Given the description of an element on the screen output the (x, y) to click on. 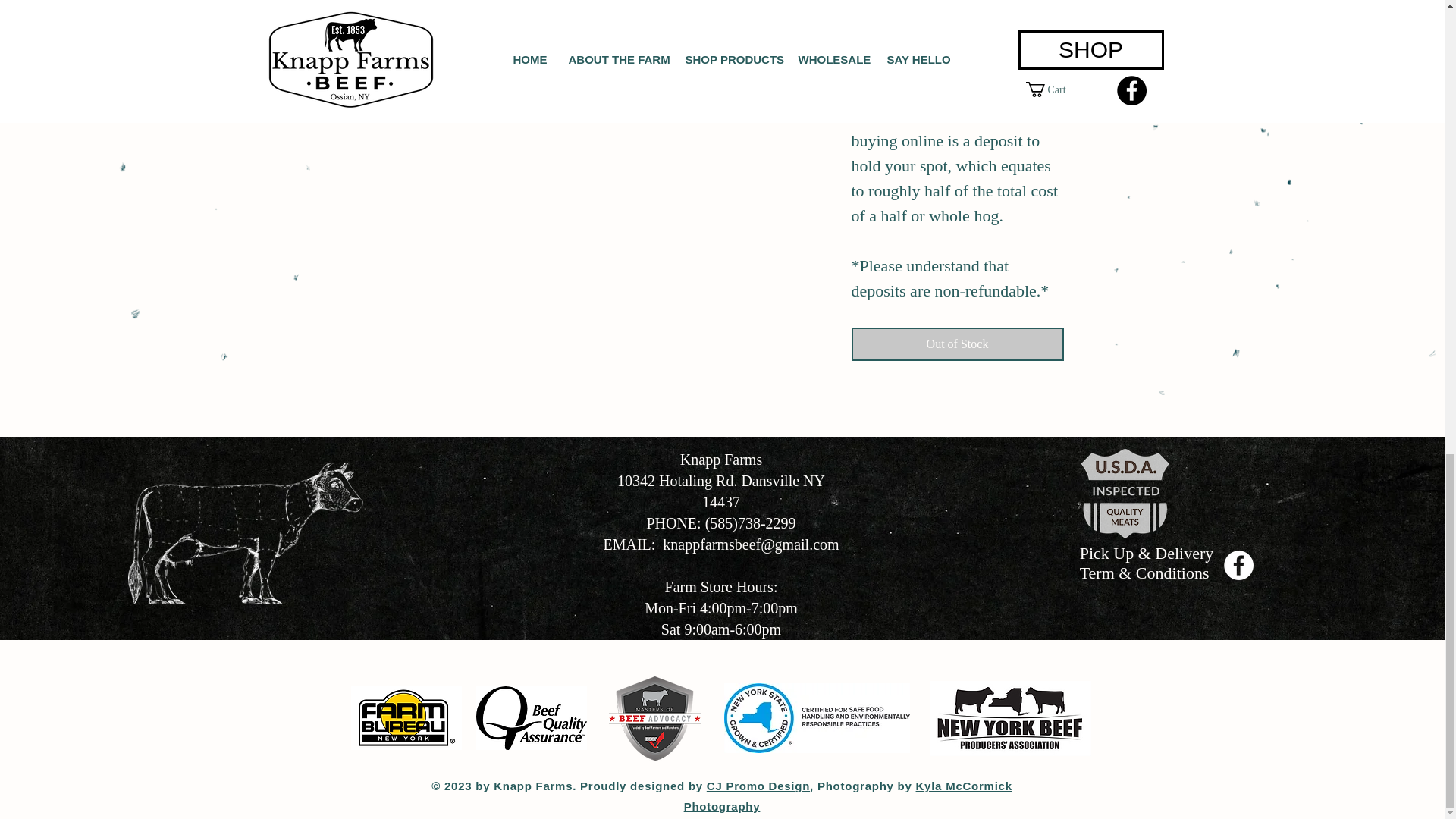
Out of Stock (956, 344)
CJ Promo Design (757, 785)
Kyla McCormick Photography (847, 796)
